Given the description of an element on the screen output the (x, y) to click on. 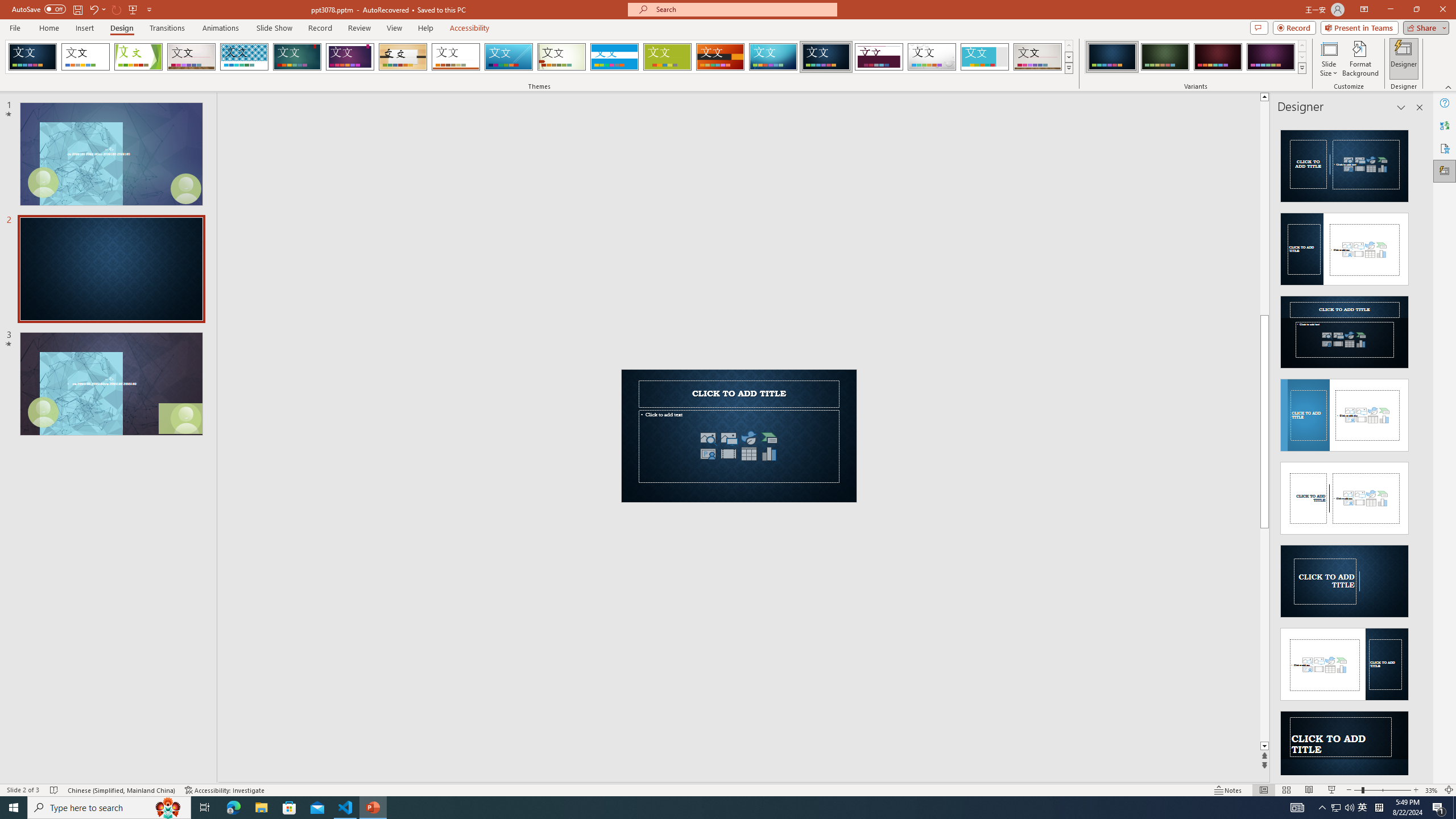
Droplet (931, 56)
Basis (667, 56)
Insert an Icon (748, 437)
Frame (984, 56)
Format Background (1360, 58)
Insert a SmartArt Graphic (769, 437)
Circuit (772, 56)
